Given the description of an element on the screen output the (x, y) to click on. 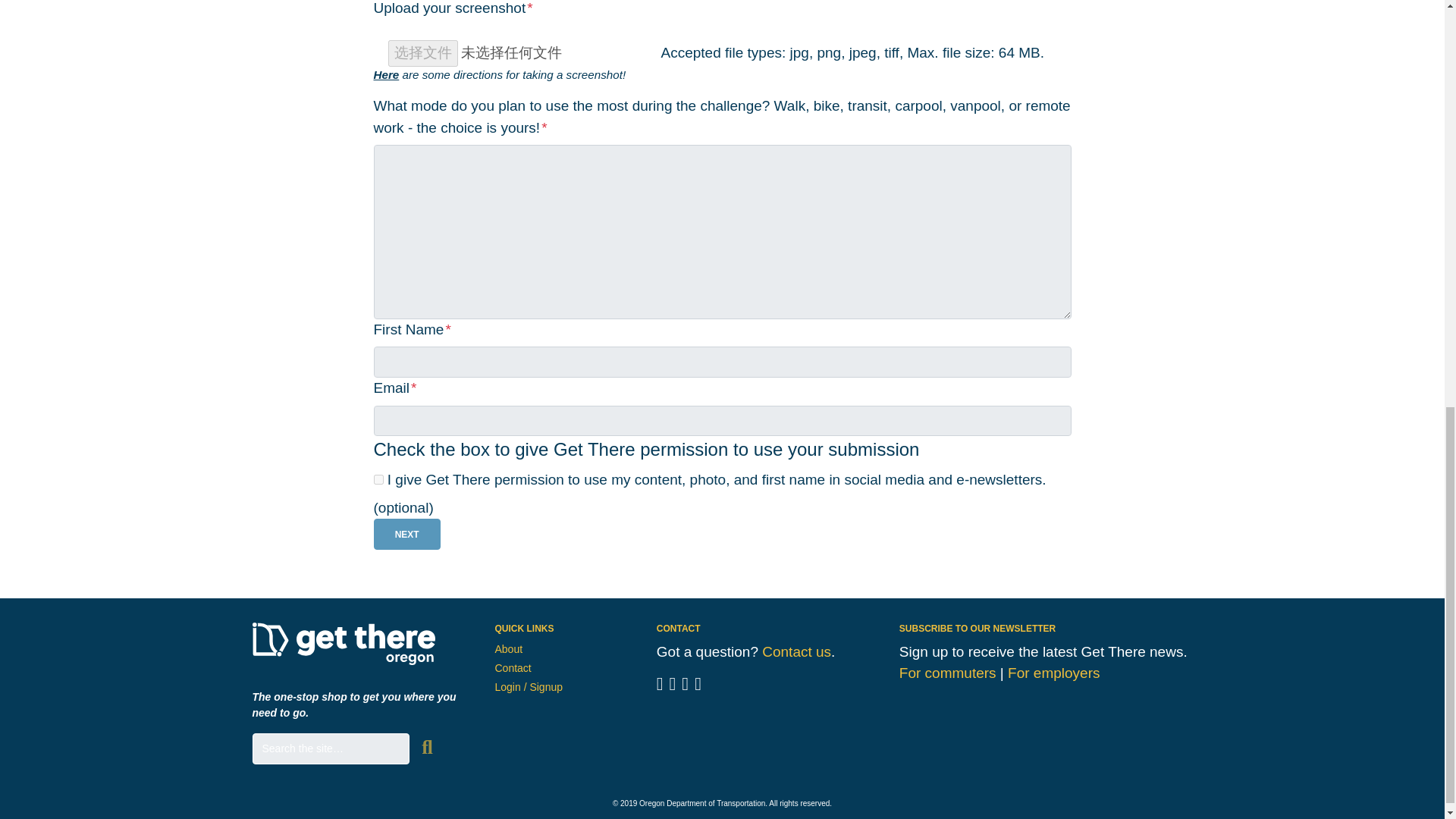
Next (405, 533)
